Given the description of an element on the screen output the (x, y) to click on. 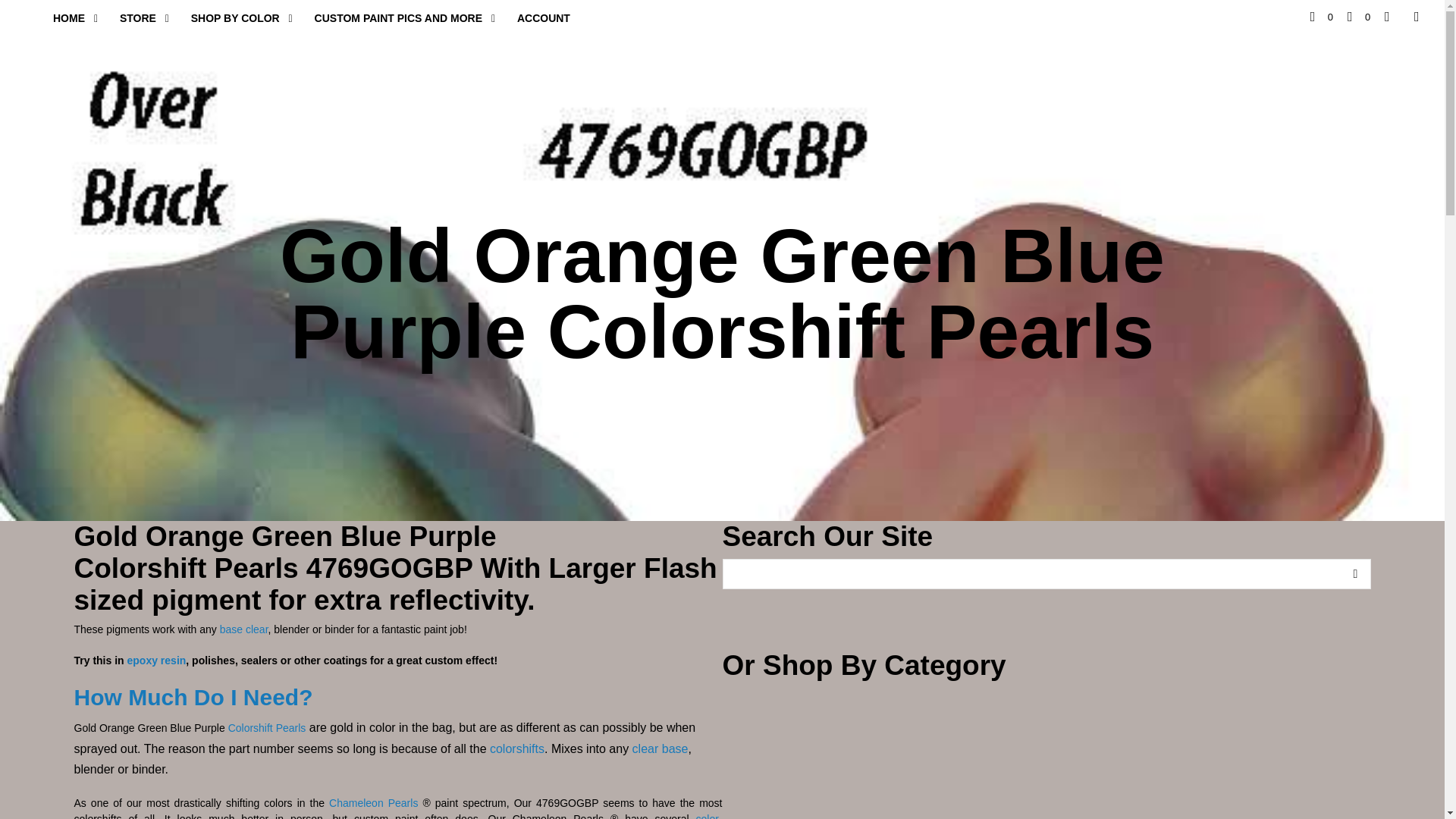
STORE (137, 18)
SHOP BY COLOR (235, 18)
Search (1355, 573)
HOME (69, 18)
Search (1355, 573)
